Given the description of an element on the screen output the (x, y) to click on. 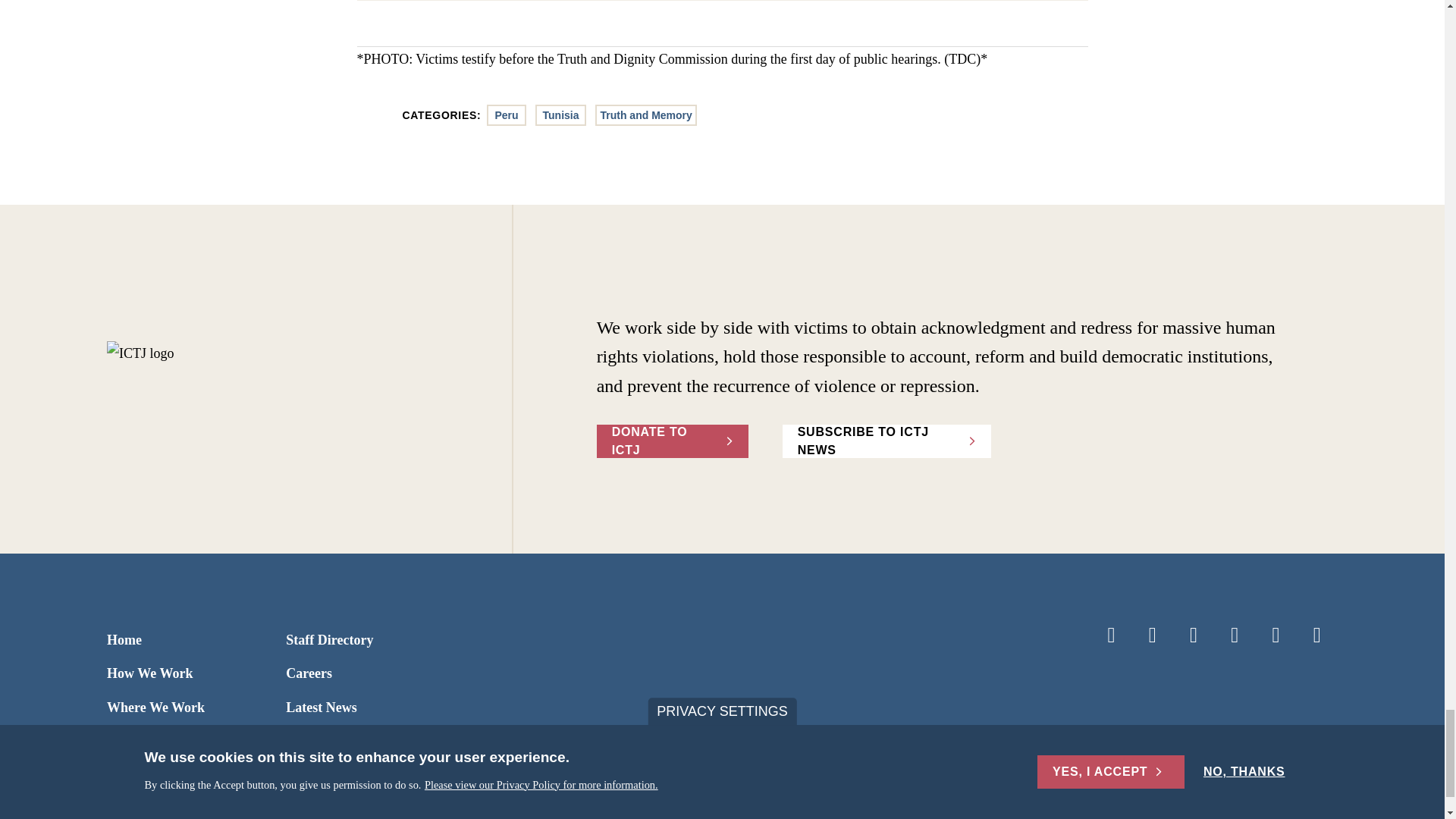
Twitter (1152, 635)
instagram (1234, 635)
Youtube (1275, 635)
LinkedIn (1193, 635)
Privacy Policy, Terms of Use, Whistleblower Policy (547, 809)
facebook (1110, 635)
Medium (1317, 635)
